Given the description of an element on the screen output the (x, y) to click on. 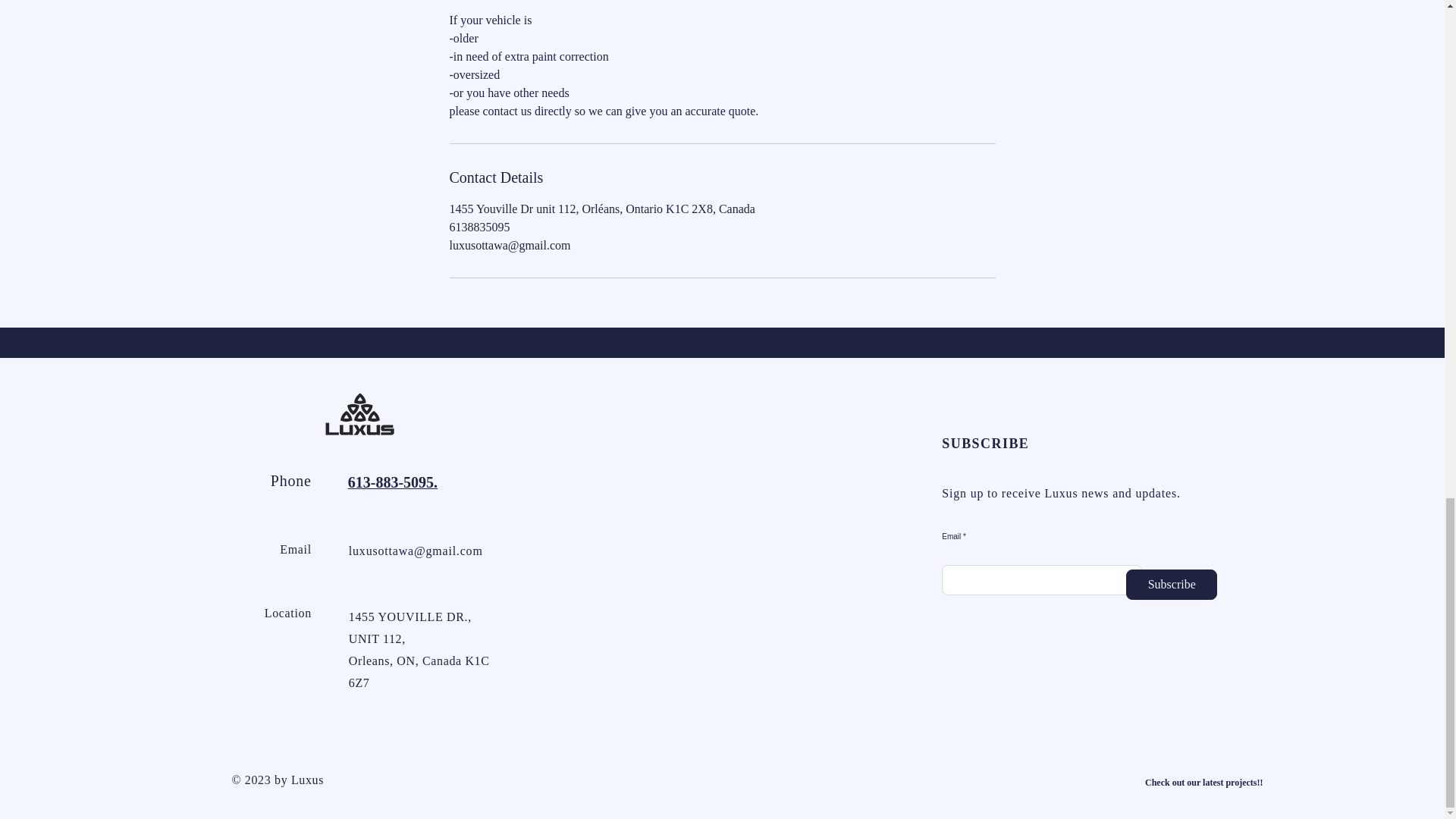
Location (287, 612)
Email (295, 549)
5095. (420, 482)
Subscribe (1171, 584)
Phone (290, 480)
613-883- (375, 482)
